Given the description of an element on the screen output the (x, y) to click on. 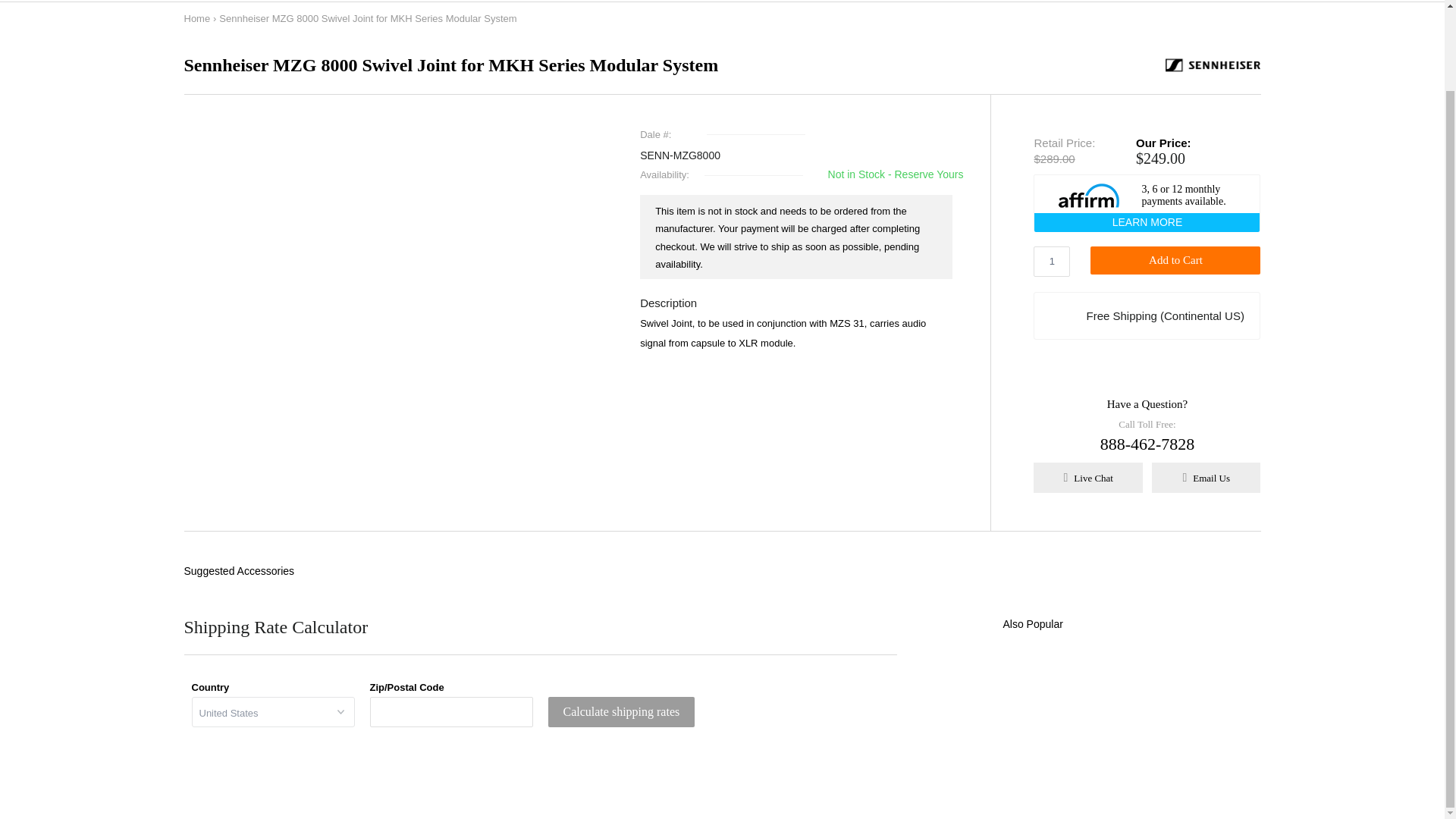
1 (1051, 261)
Home (196, 18)
Calculate shipping rates (620, 711)
